Given the description of an element on the screen output the (x, y) to click on. 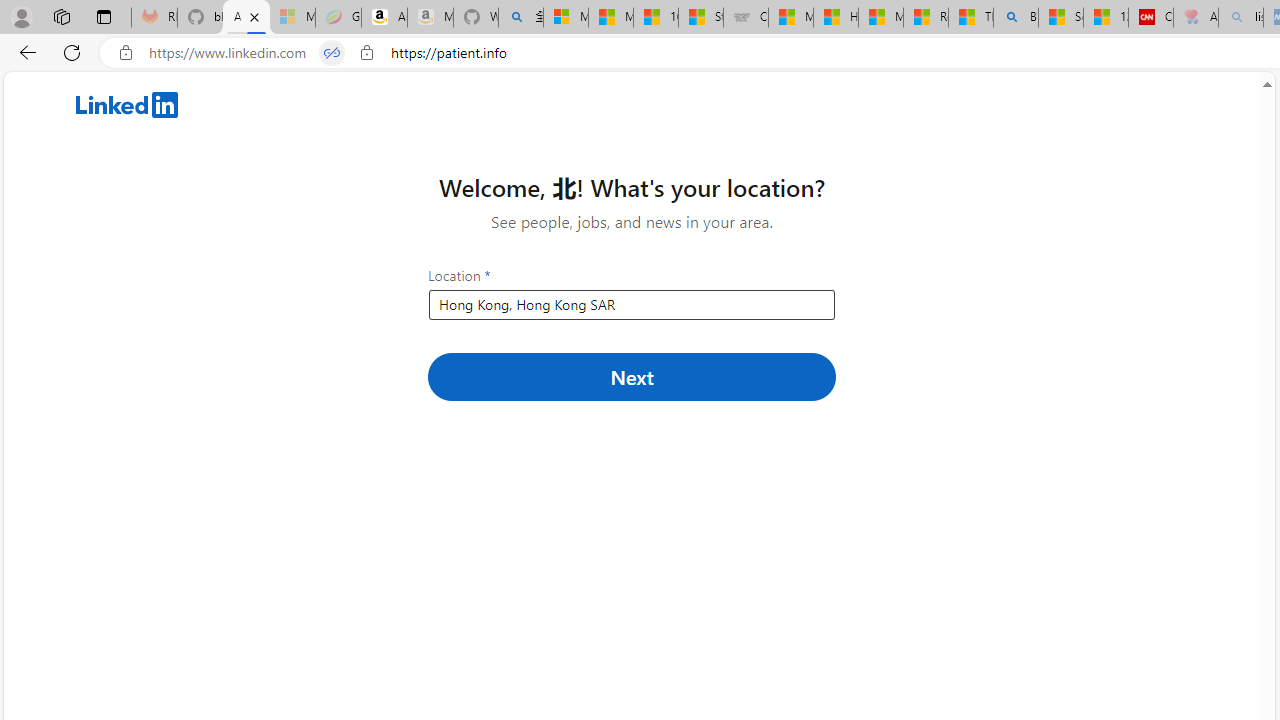
Arthritis: Ask Health Professionals - Sleeping (1195, 17)
Asthma Inhalers: Names and Types (246, 17)
12 Popular Science Lies that Must be Corrected (1105, 17)
How I Got Rid of Microsoft Edge's Unnecessary Features (835, 17)
